Given the description of an element on the screen output the (x, y) to click on. 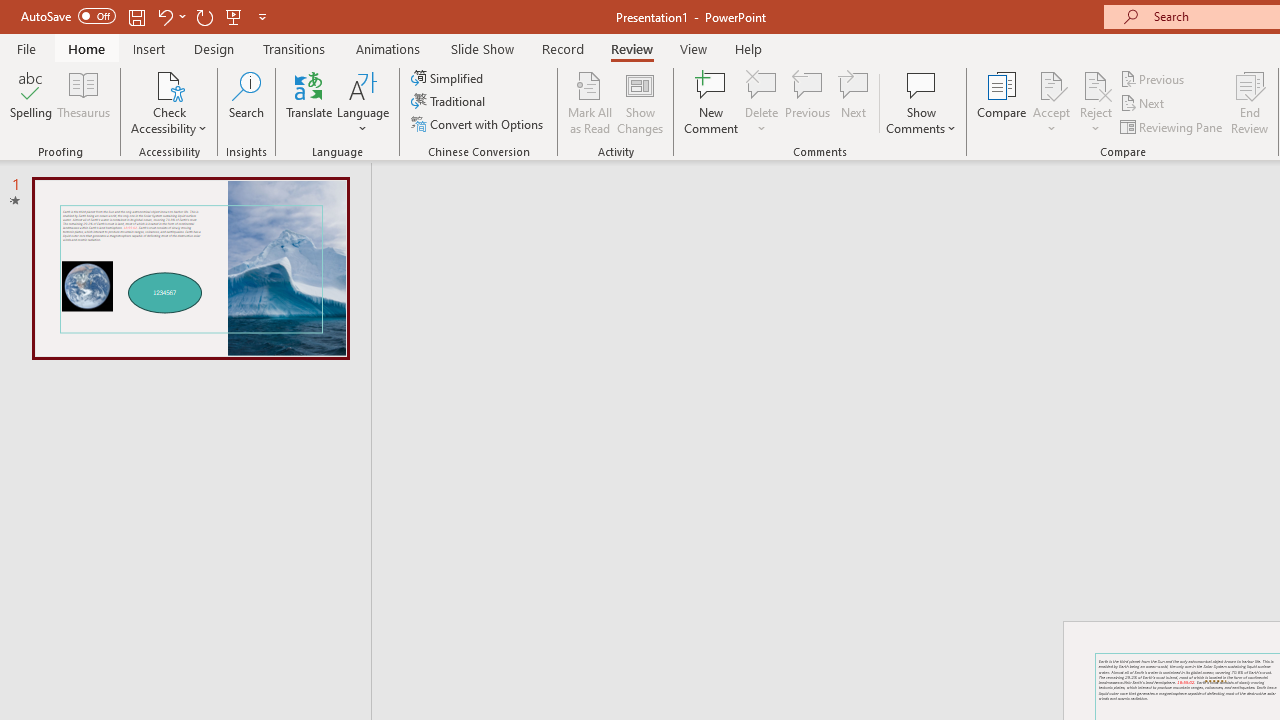
Reject (1096, 102)
Traditional (449, 101)
Accept Change (1051, 84)
Check Accessibility (169, 102)
Spelling... (31, 102)
Thesaurus... (83, 102)
